Given the description of an element on the screen output the (x, y) to click on. 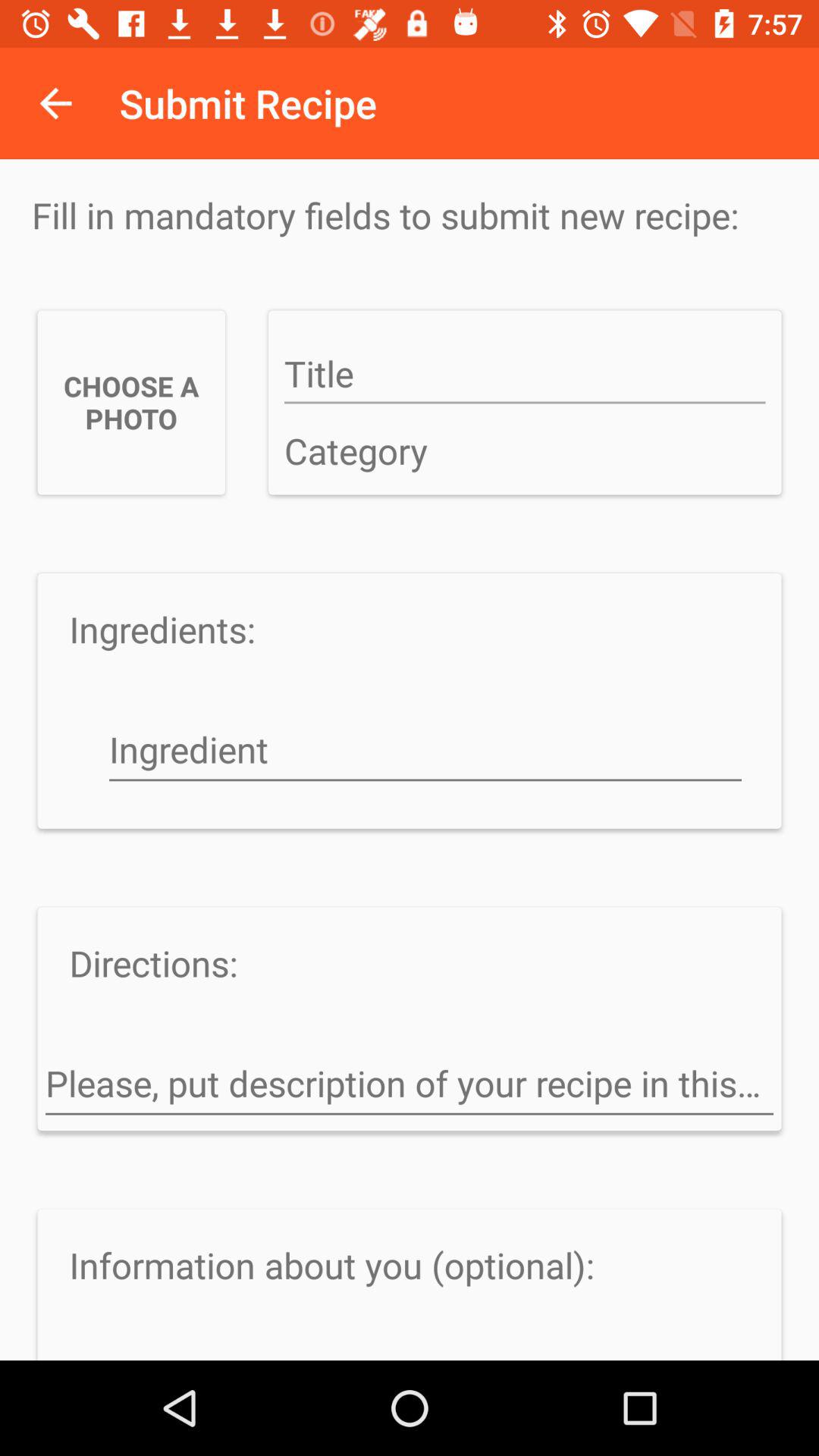
add ingredient (425, 751)
